Given the description of an element on the screen output the (x, y) to click on. 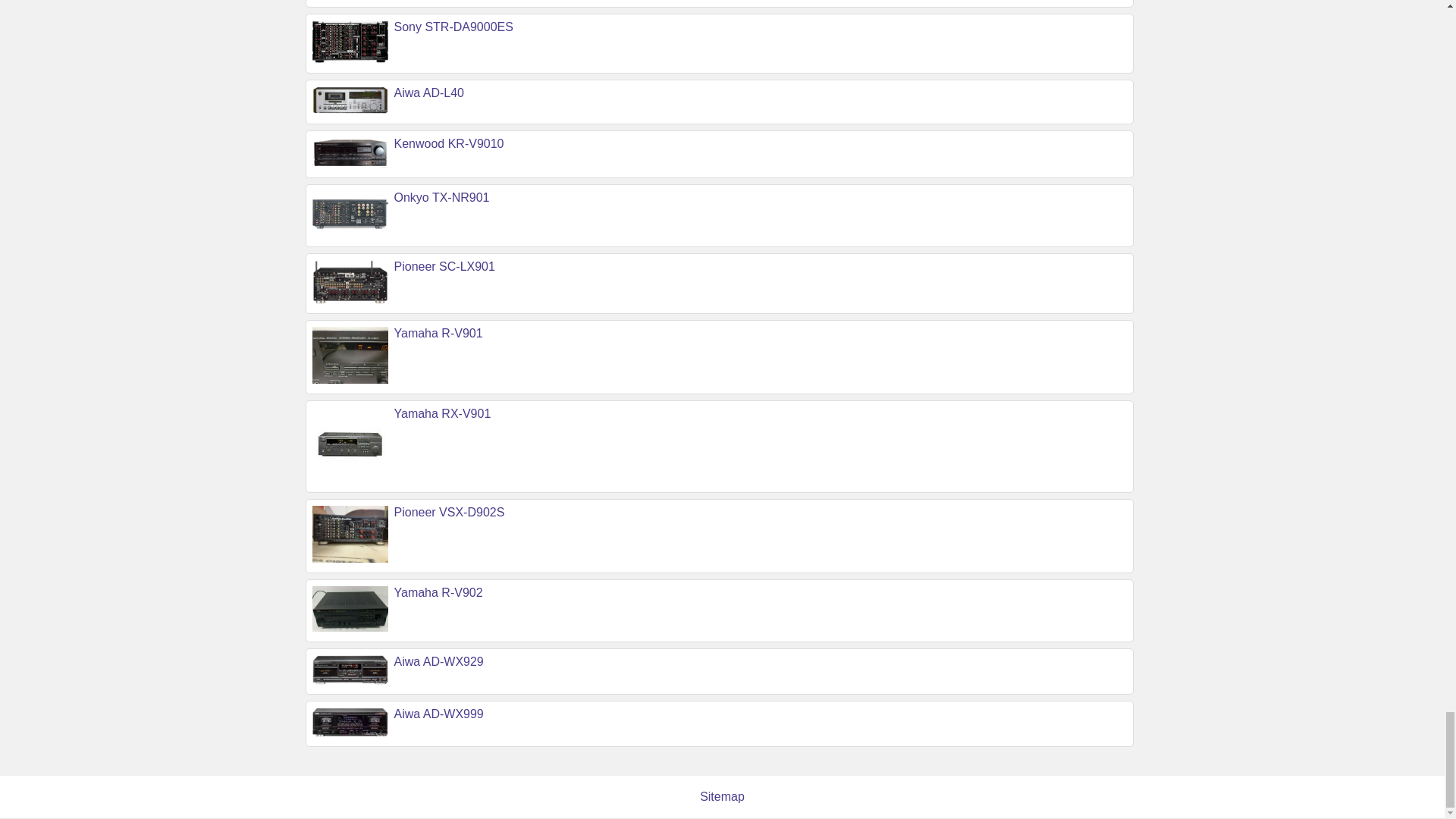
Kenwood KR-V9010 (448, 143)
Aiwa AD-L40 (429, 92)
Yamaha R-V901 (438, 332)
Pioneer SC-LX901 (444, 266)
Aiwa AD-WX929 (438, 660)
Yamaha R-V902 (438, 592)
Aiwa AD-WX999 (438, 713)
Sony STR-DA9000ES (453, 26)
Yamaha RX-V901 (443, 413)
Sitemap (722, 796)
Onkyo TX-NR901 (441, 196)
Pioneer VSX-D902S (449, 512)
